Given the description of an element on the screen output the (x, y) to click on. 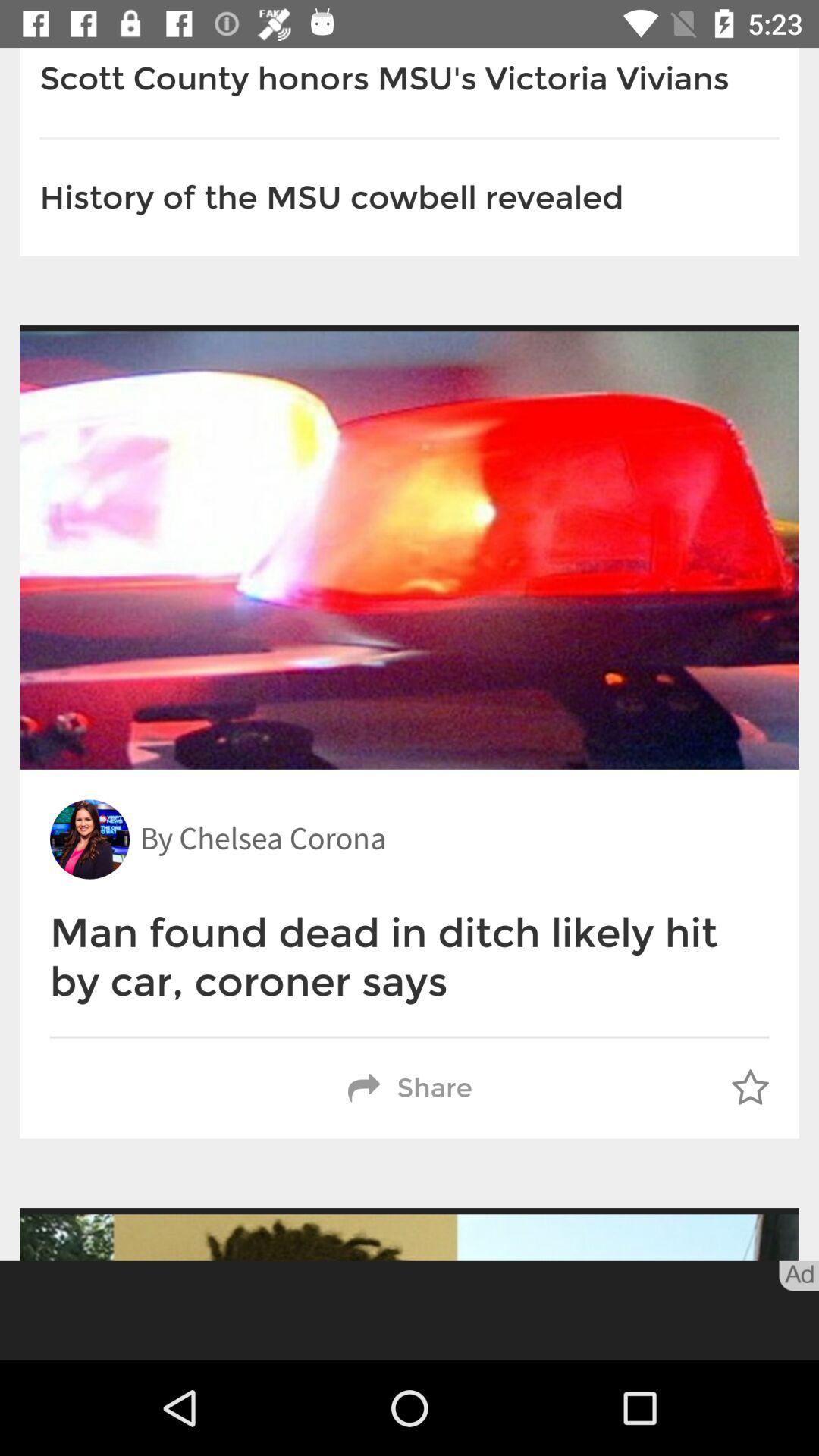
click icon to the right of the share item (750, 1088)
